Given the description of an element on the screen output the (x, y) to click on. 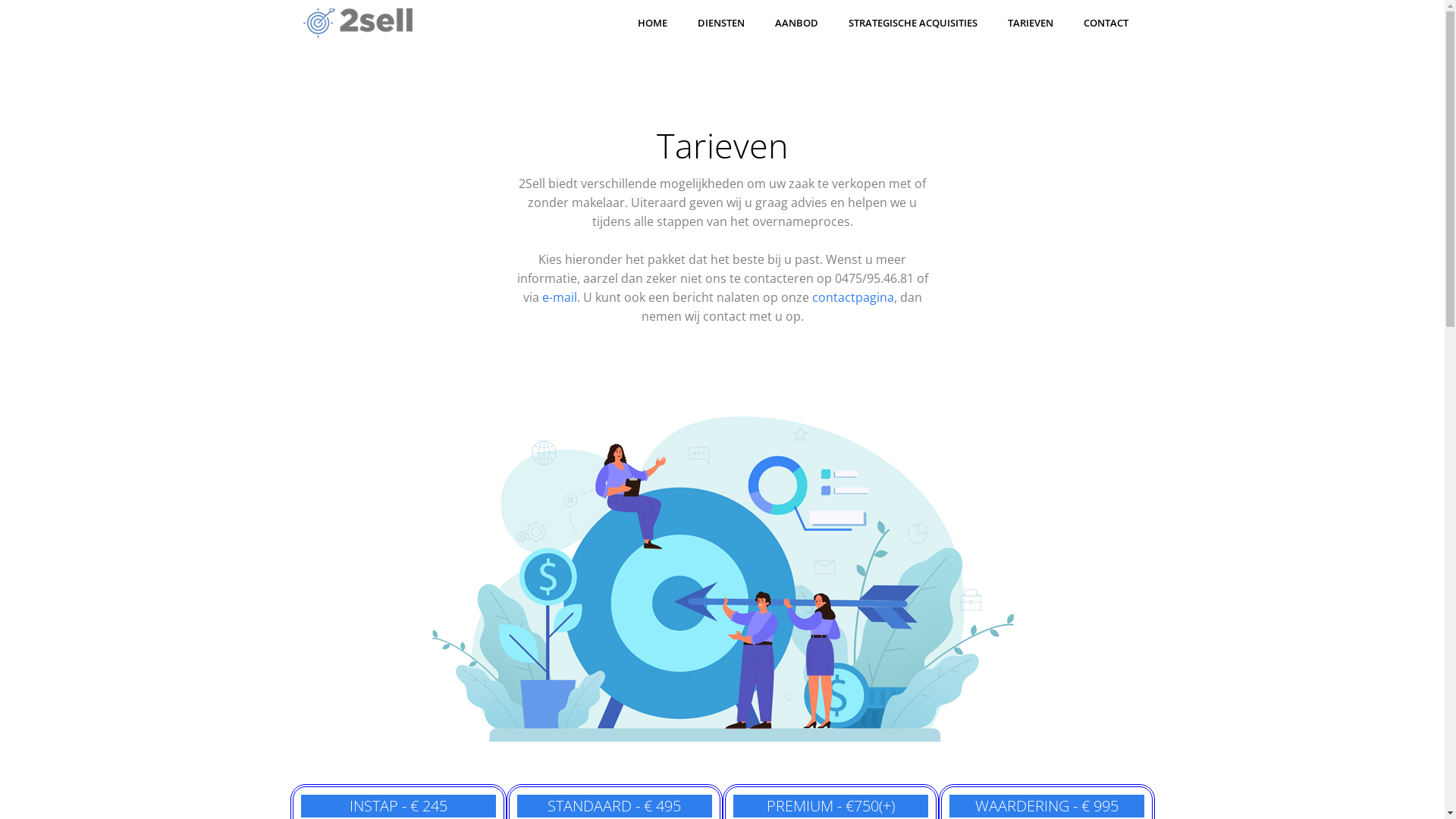
contactpagina Element type: text (852, 296)
TARIEVEN Element type: text (1029, 23)
e-mail Element type: text (558, 296)
DIENSTEN Element type: text (720, 23)
AANBOD Element type: text (796, 23)
HOME Element type: text (651, 23)
CONTACT Element type: text (1104, 23)
STRATEGISCHE ACQUISITIES Element type: text (911, 23)
